Given the description of an element on the screen output the (x, y) to click on. 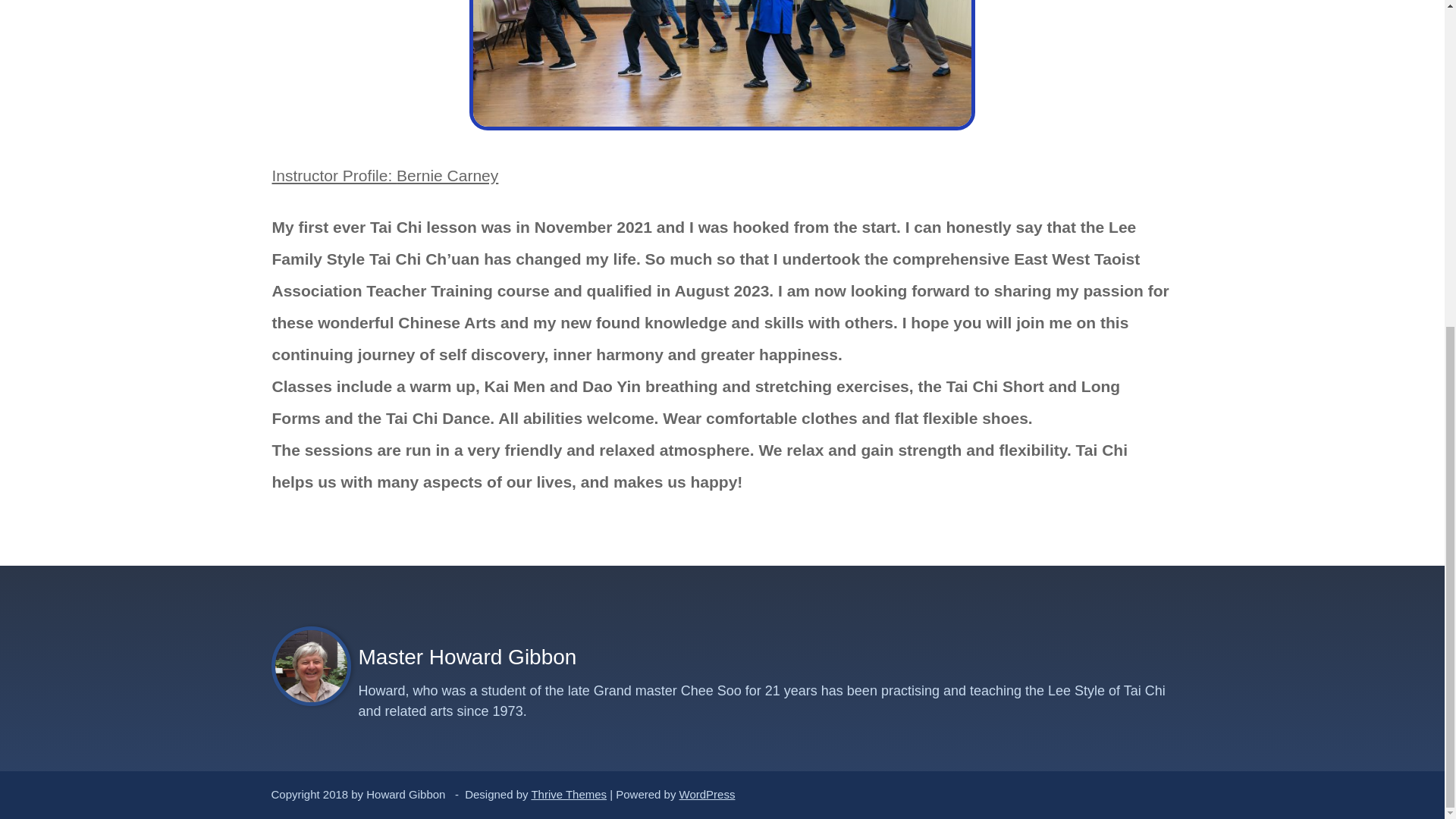
WordPress (707, 793)
Bernie Carney (722, 63)
Thrive Themes (569, 793)
